Given the description of an element on the screen output the (x, y) to click on. 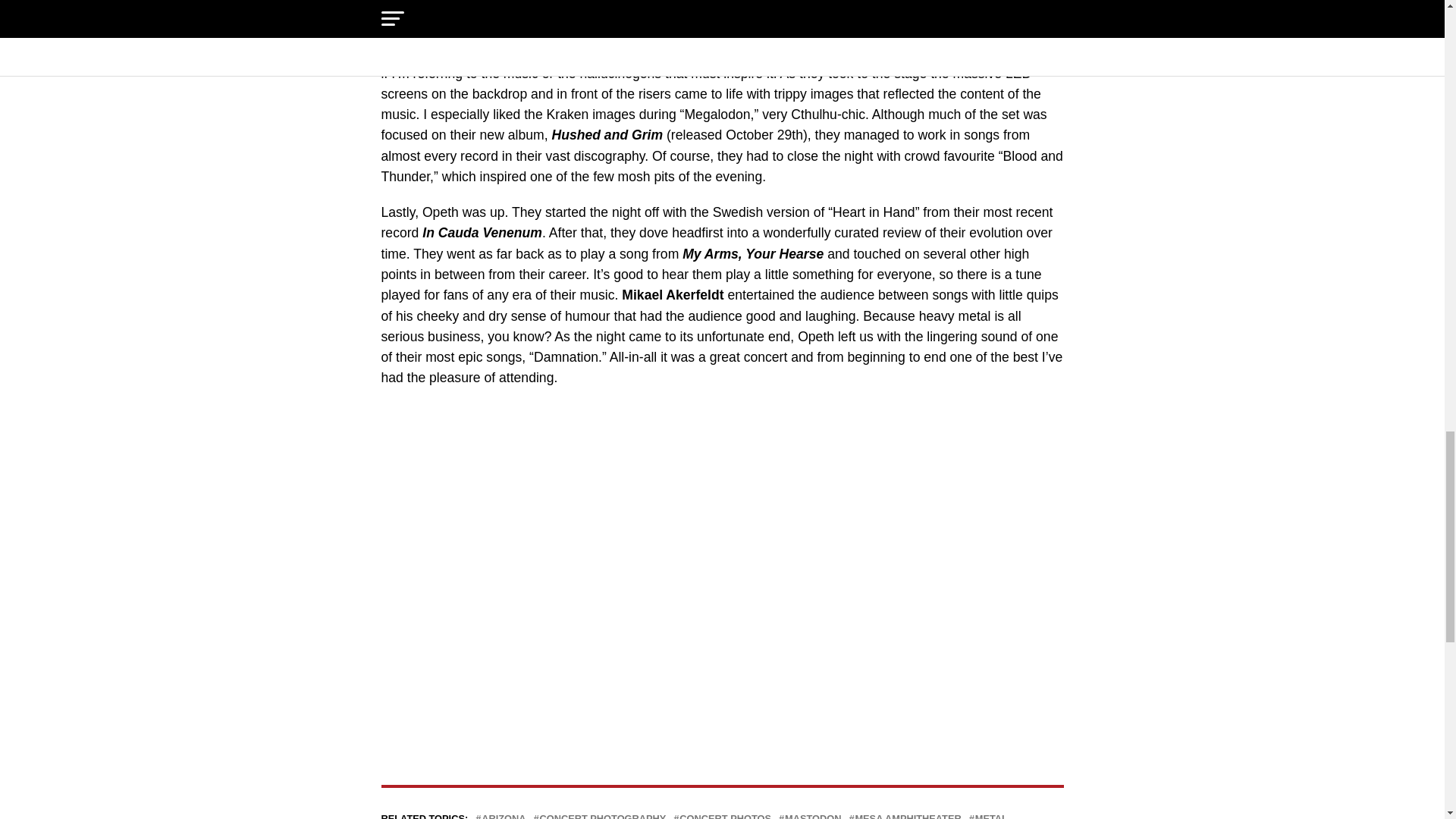
ARIZONA (503, 816)
METAL (991, 816)
CONCERT PHOTOS (725, 816)
MASTODON (812, 816)
MESA AMPHITHEATER (907, 816)
CONCERT PHOTOGRAPHY (603, 816)
